Given the description of an element on the screen output the (x, y) to click on. 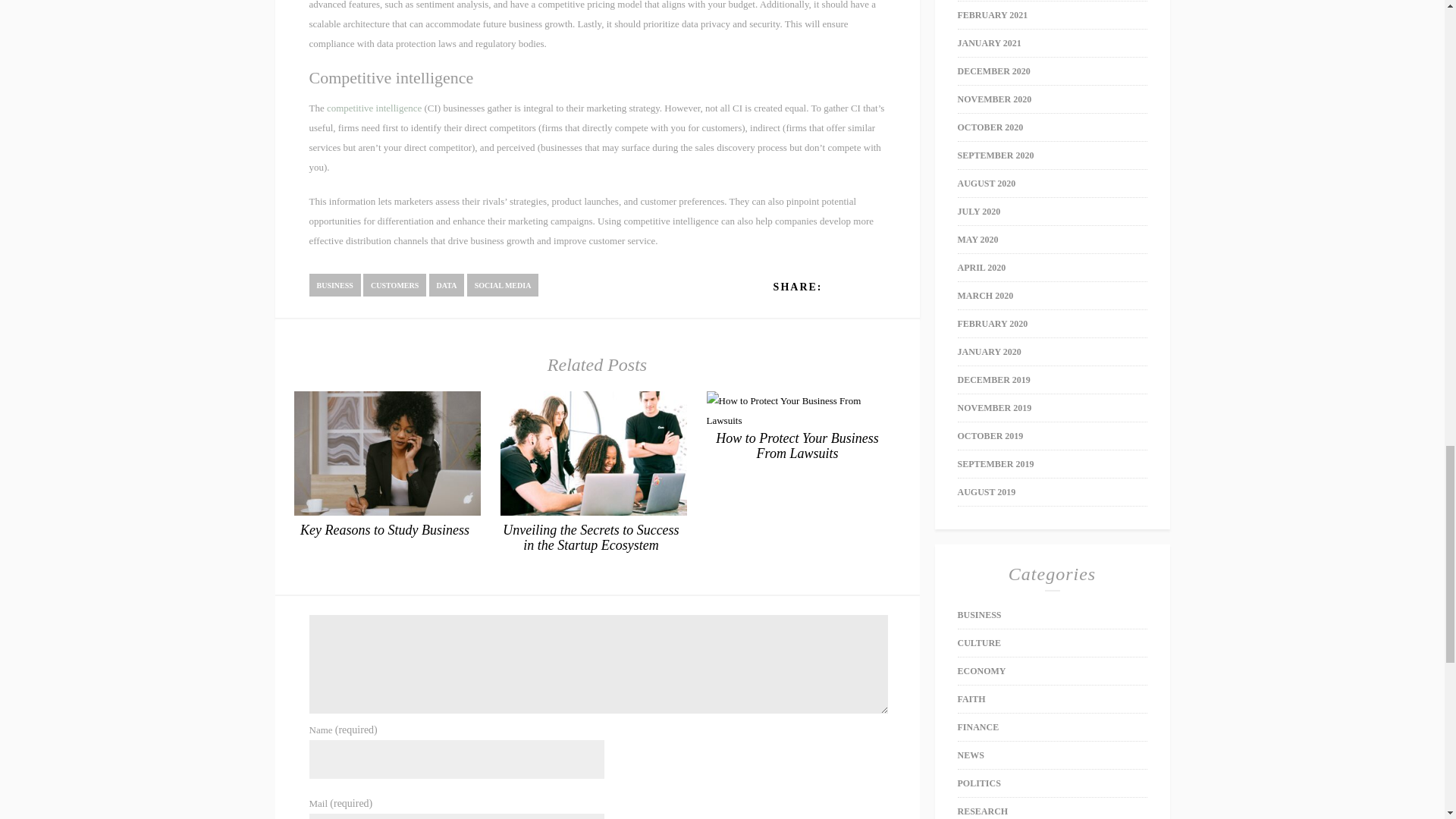
Unveiling the Secrets to Success in the Startup Ecosystem (590, 537)
Key Reasons to Study Business (383, 529)
competitive intelligence (374, 107)
BUSINESS (334, 284)
How to Protect Your Business From Lawsuits (797, 445)
Permanent (593, 511)
Permanent (797, 419)
Permanent (590, 537)
Permanent (387, 511)
DATA (446, 284)
SOCIAL MEDIA (502, 284)
Permanent (797, 445)
CUSTOMERS (394, 284)
Permanent (383, 529)
